Given the description of an element on the screen output the (x, y) to click on. 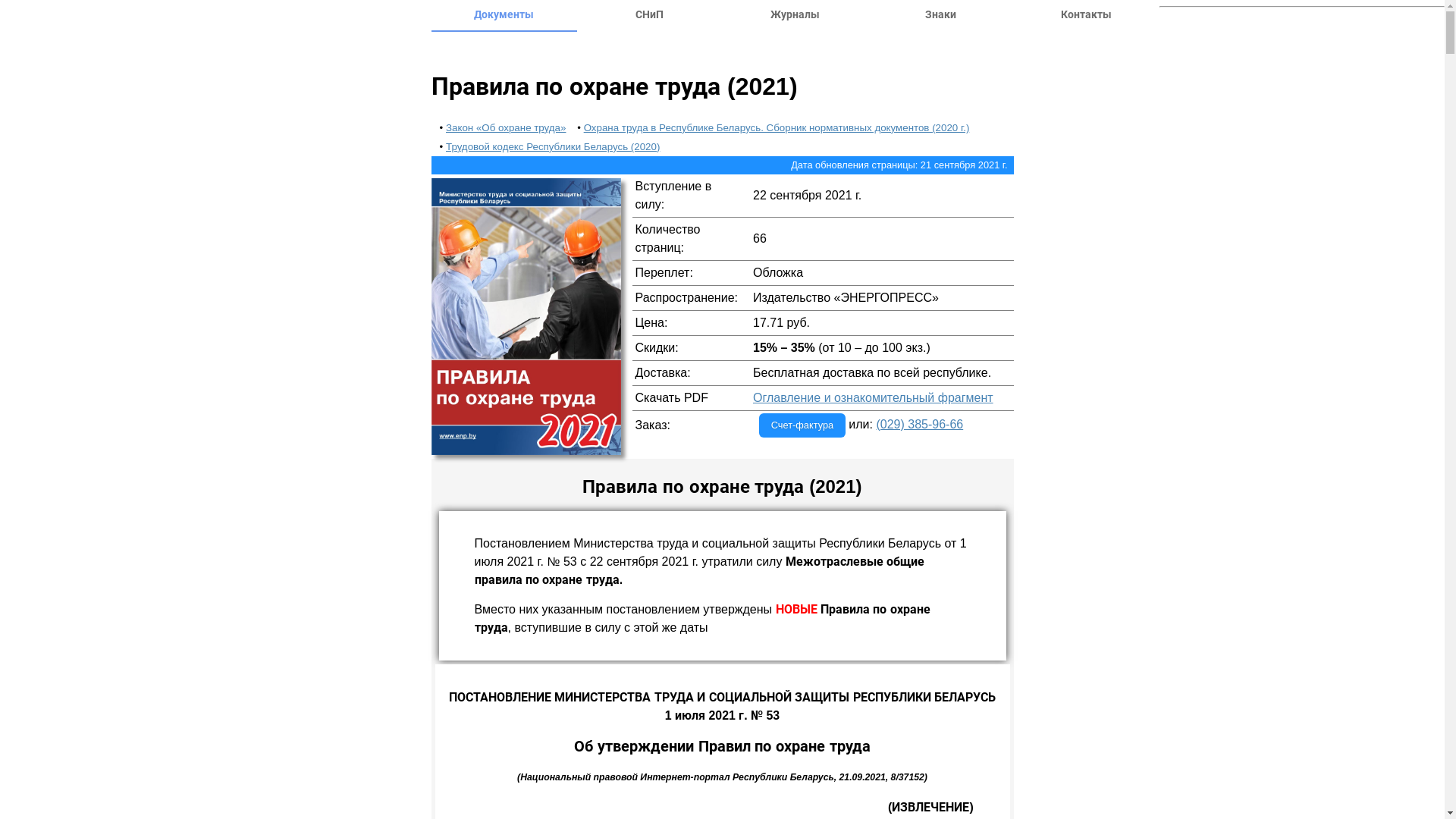
(029) 385-96-66 Element type: text (919, 423)
